Given the description of an element on the screen output the (x, y) to click on. 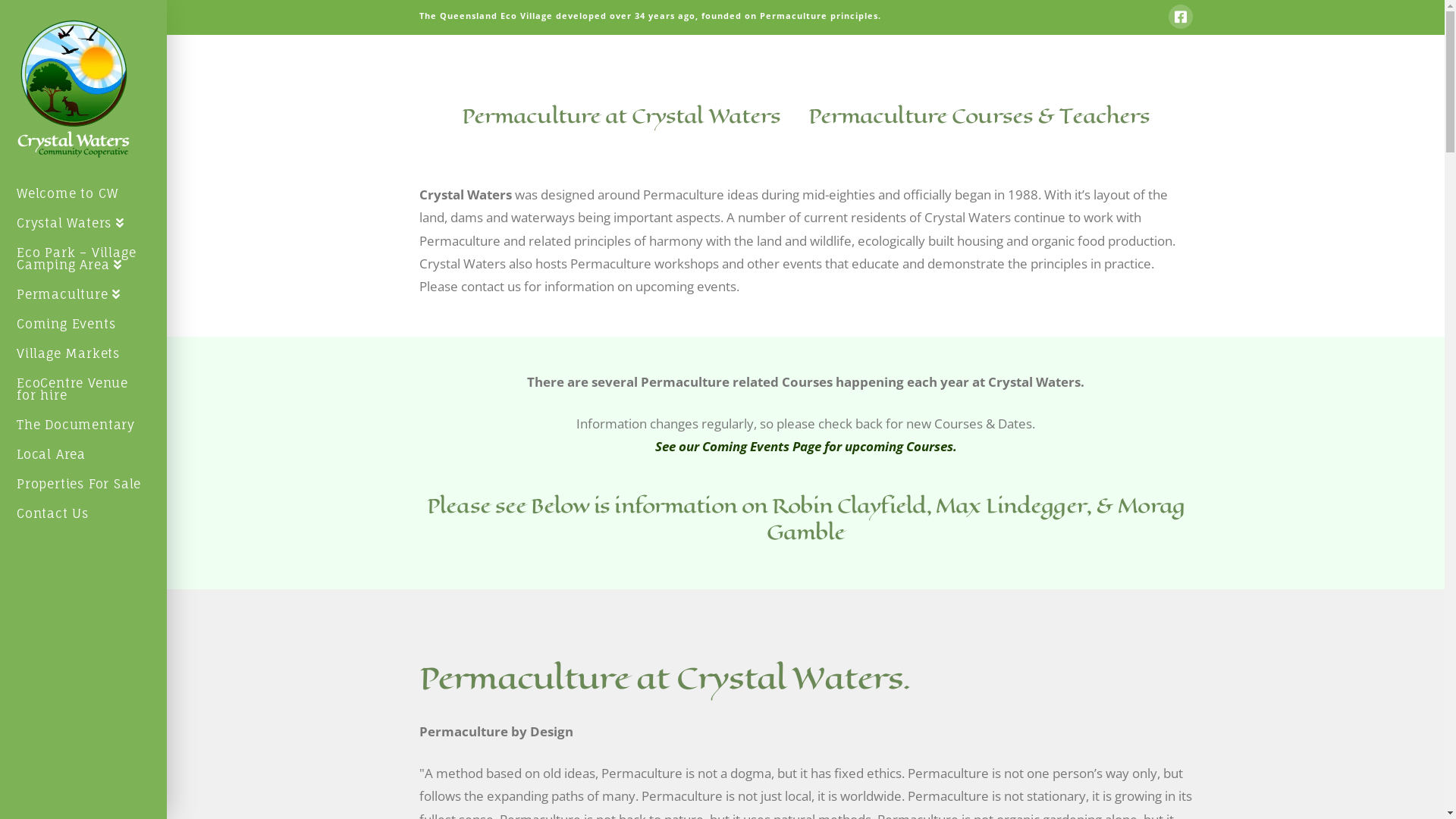
Village Markets Element type: text (83, 354)
Facebook Element type: hover (1179, 16)
EcoCentre Venue for hire Element type: text (83, 390)
See our Coming Events Page for upcoming Courses. Element type: text (806, 446)
Permaculture Element type: text (83, 295)
Coming Events Element type: text (83, 325)
Welcome to CW Element type: text (83, 195)
Permaculture at Crystal Waters Element type: text (621, 115)
Contact Us Element type: text (83, 515)
Permaculture Courses & Teachers Element type: text (978, 115)
Crystal Waters Element type: text (83, 223)
Properties For Sale Element type: text (83, 484)
Local Area Element type: text (83, 455)
The Documentary Element type: text (83, 425)
